Given the description of an element on the screen output the (x, y) to click on. 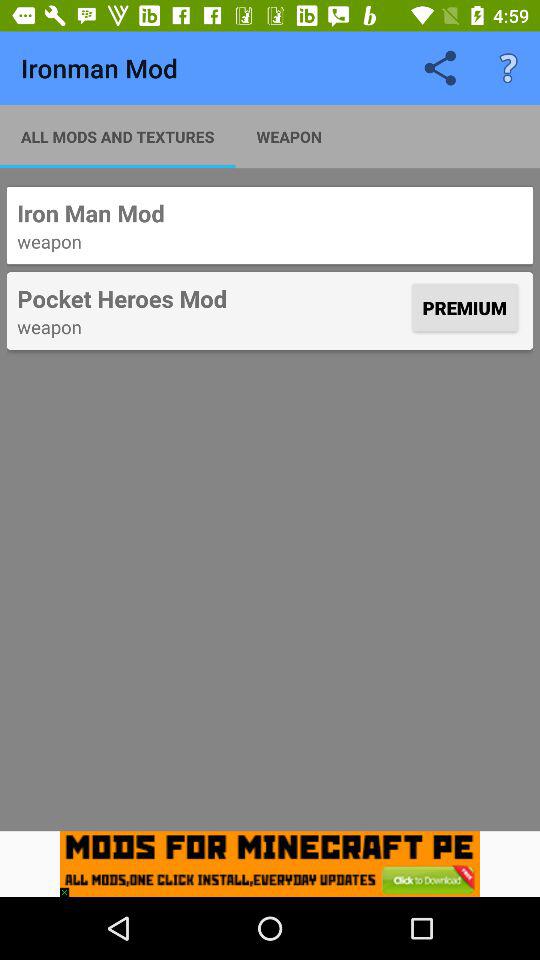
turn off the item below ironman mod icon (117, 136)
